Given the description of an element on the screen output the (x, y) to click on. 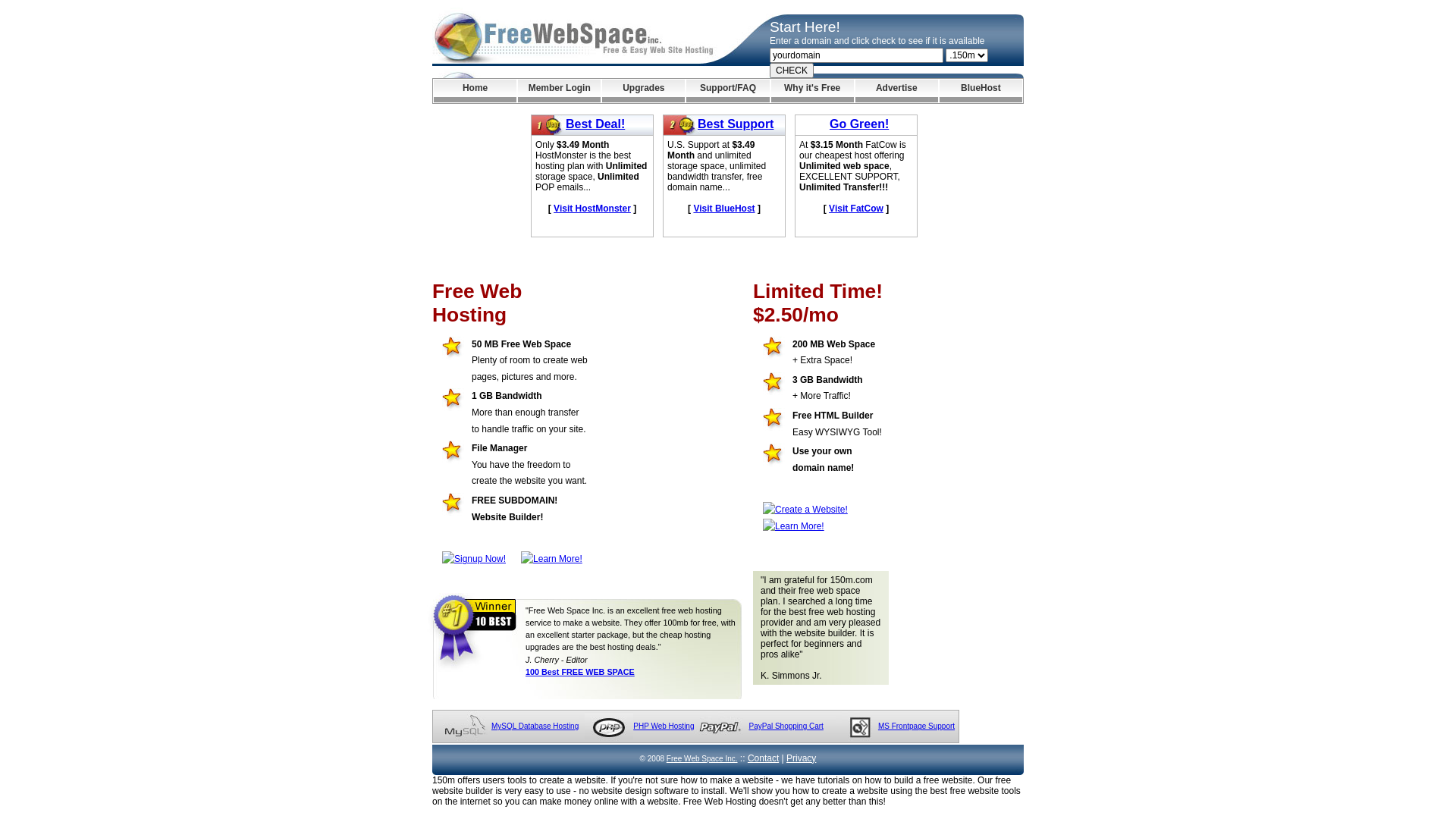
Free Web Space Inc. Element type: text (701, 758)
Upgrades Element type: text (643, 90)
Home Element type: text (474, 90)
Member Login Element type: text (558, 90)
Support/FAQ Element type: text (727, 90)
Advertise Element type: text (896, 90)
PHP Web Hosting Element type: text (663, 725)
PayPal Shopping Cart Element type: text (785, 725)
Privacy Element type: text (800, 758)
Why it's Free Element type: text (812, 90)
BlueHost Element type: text (980, 90)
100 Best FREE WEB SPACE Element type: text (579, 671)
CHECK Element type: text (791, 70)
Contact Element type: text (762, 758)
MySQL Database Hosting Element type: text (534, 725)
MS Frontpage Support Element type: text (916, 725)
